Given the description of an element on the screen output the (x, y) to click on. 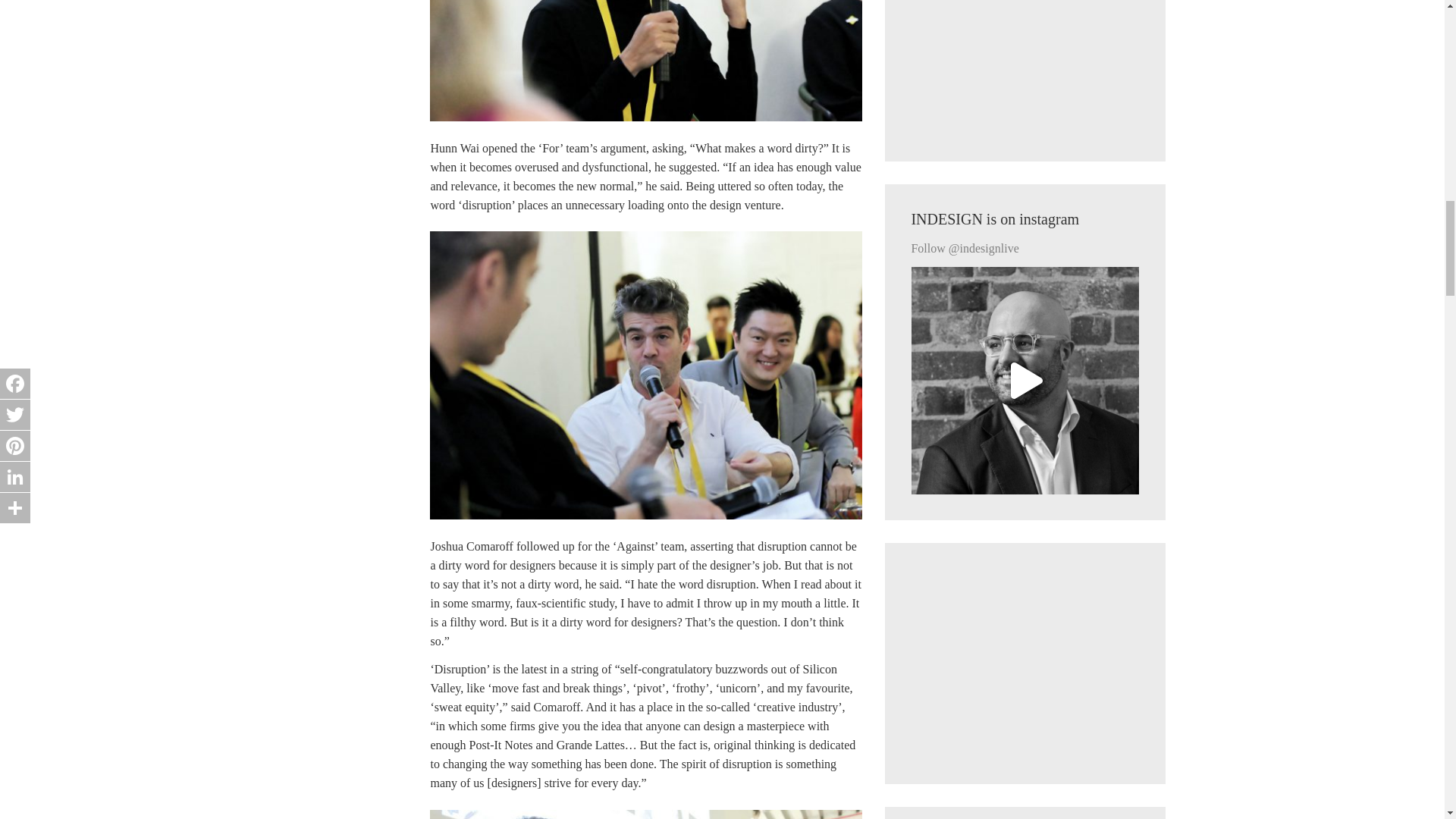
3rd party ad content (1024, 67)
